Given the description of an element on the screen output the (x, y) to click on. 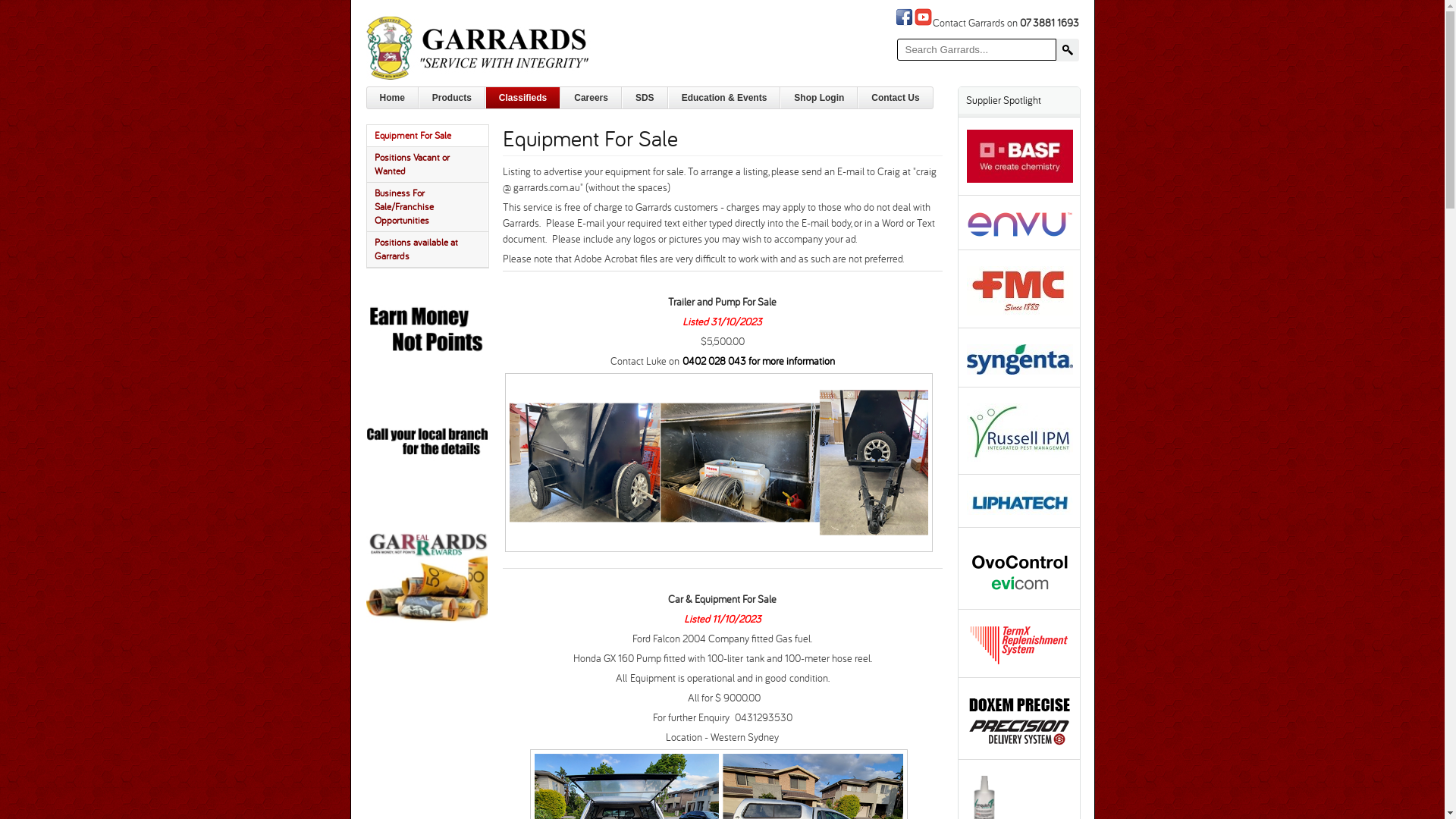
FMC Element type: hover (1019, 311)
Garrards: Service with integrity Element type: text (479, 46)
FMC Element type: hover (1019, 286)
Liphatech Element type: hover (1019, 510)
Search Element type: text (1066, 49)
Doxem Precise Element type: hover (1019, 742)
Envu Element type: hover (1019, 233)
TermX Replenishment System Element type: hover (1019, 641)
BASF Element type: hover (1019, 178)
Positions available at Garrards Element type: text (427, 249)
Equipment For Sale Element type: text (412, 135)
SDS Element type: text (644, 97)
Products Element type: text (451, 97)
Liphatech Element type: hover (1019, 498)
TermX Replenishment System Element type: hover (1019, 661)
0402 028 043 Element type: text (714, 360)
Syngenta Element type: hover (1019, 370)
Envu Element type: hover (1019, 220)
Classifieds Element type: text (522, 97)
Russell IPM Element type: hover (1019, 457)
Business For Sale/Franchise Opportunities Element type: text (427, 206)
Shop Login Element type: text (818, 97)
Home Element type: text (392, 97)
BASF Element type: hover (1019, 151)
Doxem Precise Element type: hover (1019, 715)
OvoControl Element type: hover (1019, 565)
Syngenta Element type: hover (1019, 354)
Careers Element type: text (591, 97)
Positions Vacant or Wanted Element type: text (427, 164)
Education & Events Element type: text (724, 97)
Russell IPM Element type: hover (1019, 428)
Contact Us Element type: text (894, 97)
OvoControl Element type: hover (1019, 592)
